Given the description of an element on the screen output the (x, y) to click on. 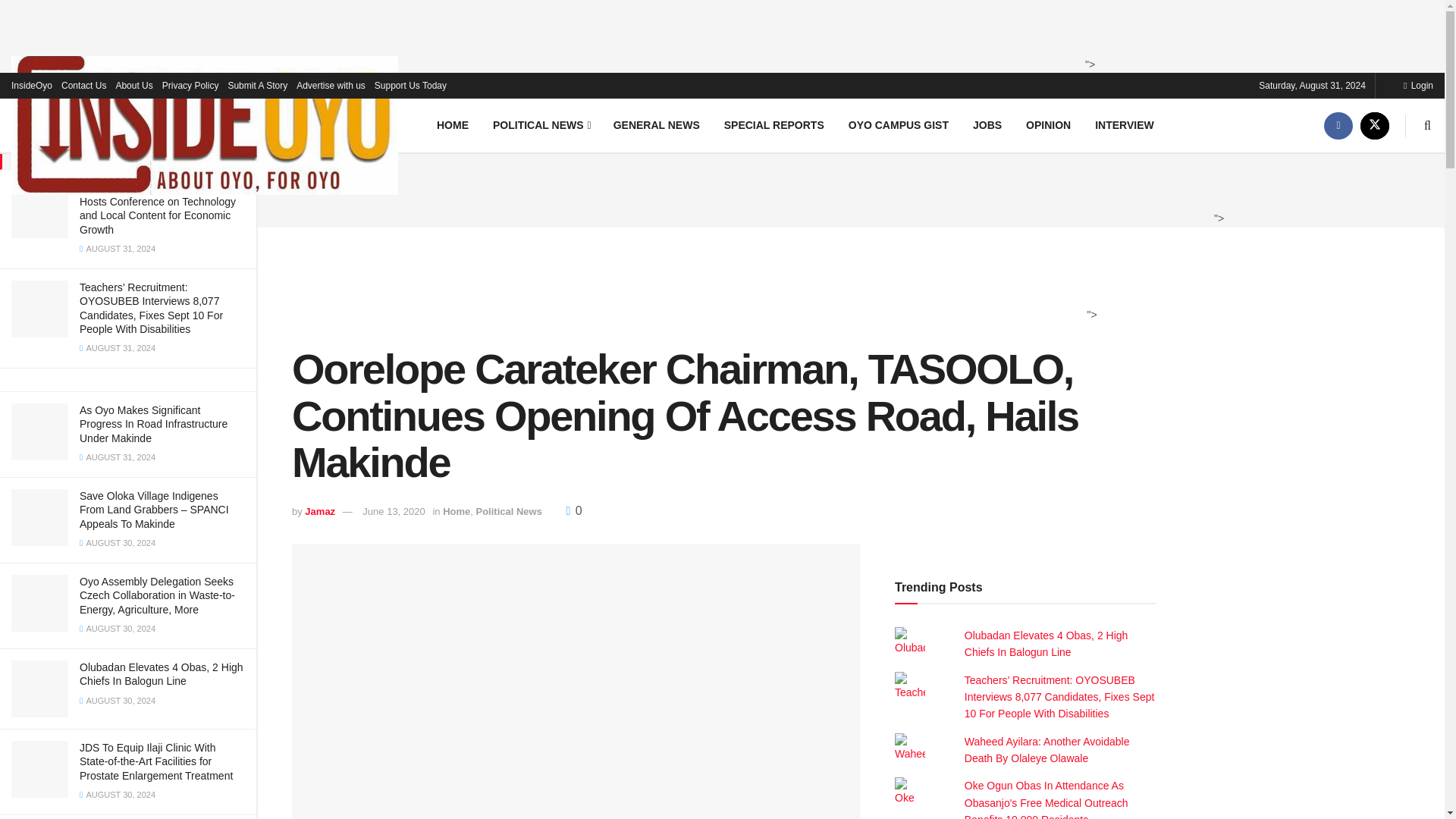
About Us (133, 85)
Filter (227, 13)
Login (1417, 85)
HOME (452, 125)
Advertise with us (331, 85)
Olubadan Elevates 4 Obas, 2 High Chiefs In Balogun Line (1045, 643)
Waheed Ayilara: Another Avoidable Death By Olaleye Olawale (1046, 749)
